Given the description of an element on the screen output the (x, y) to click on. 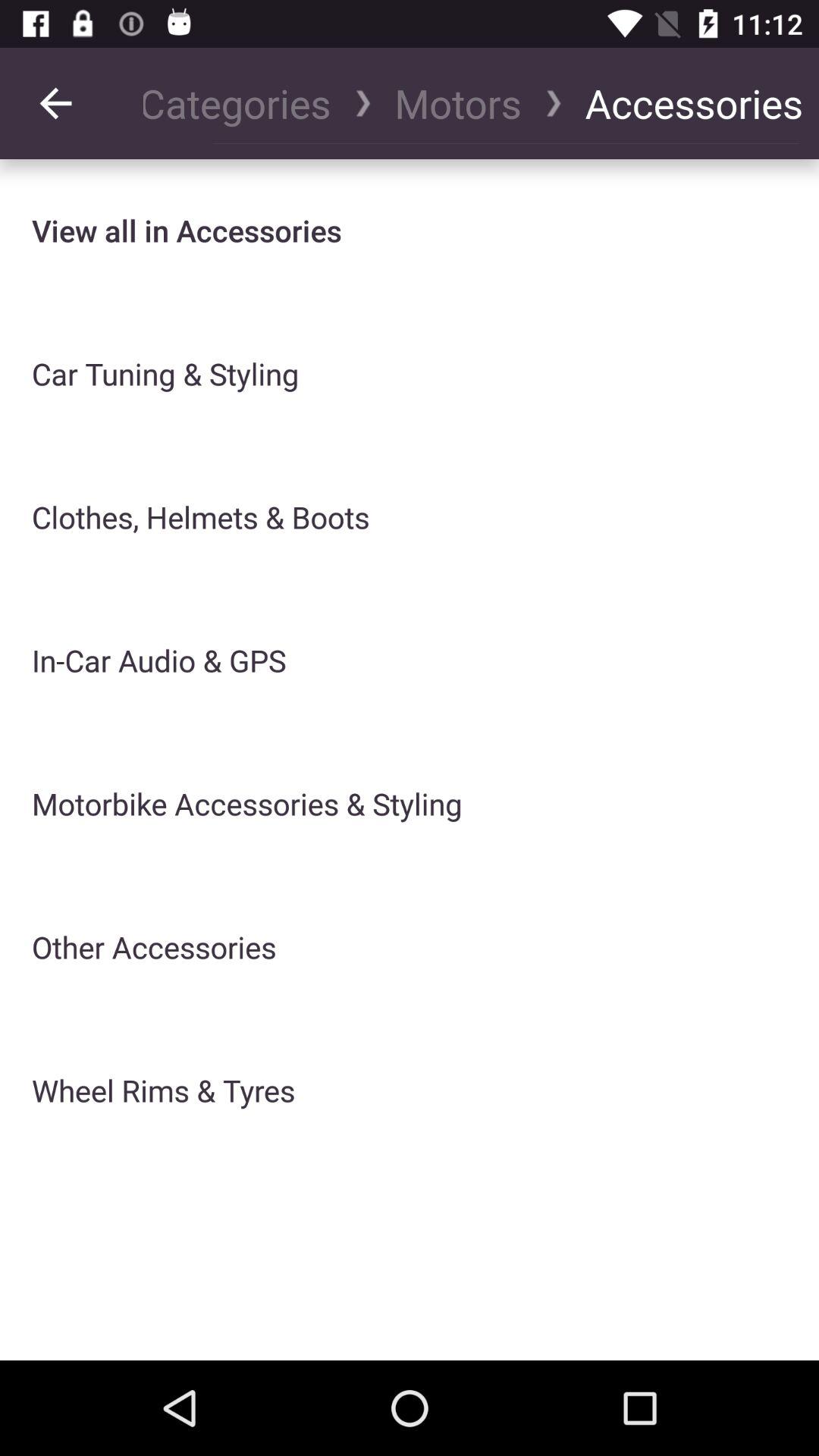
select icon next to all categories (55, 103)
